Given the description of an element on the screen output the (x, y) to click on. 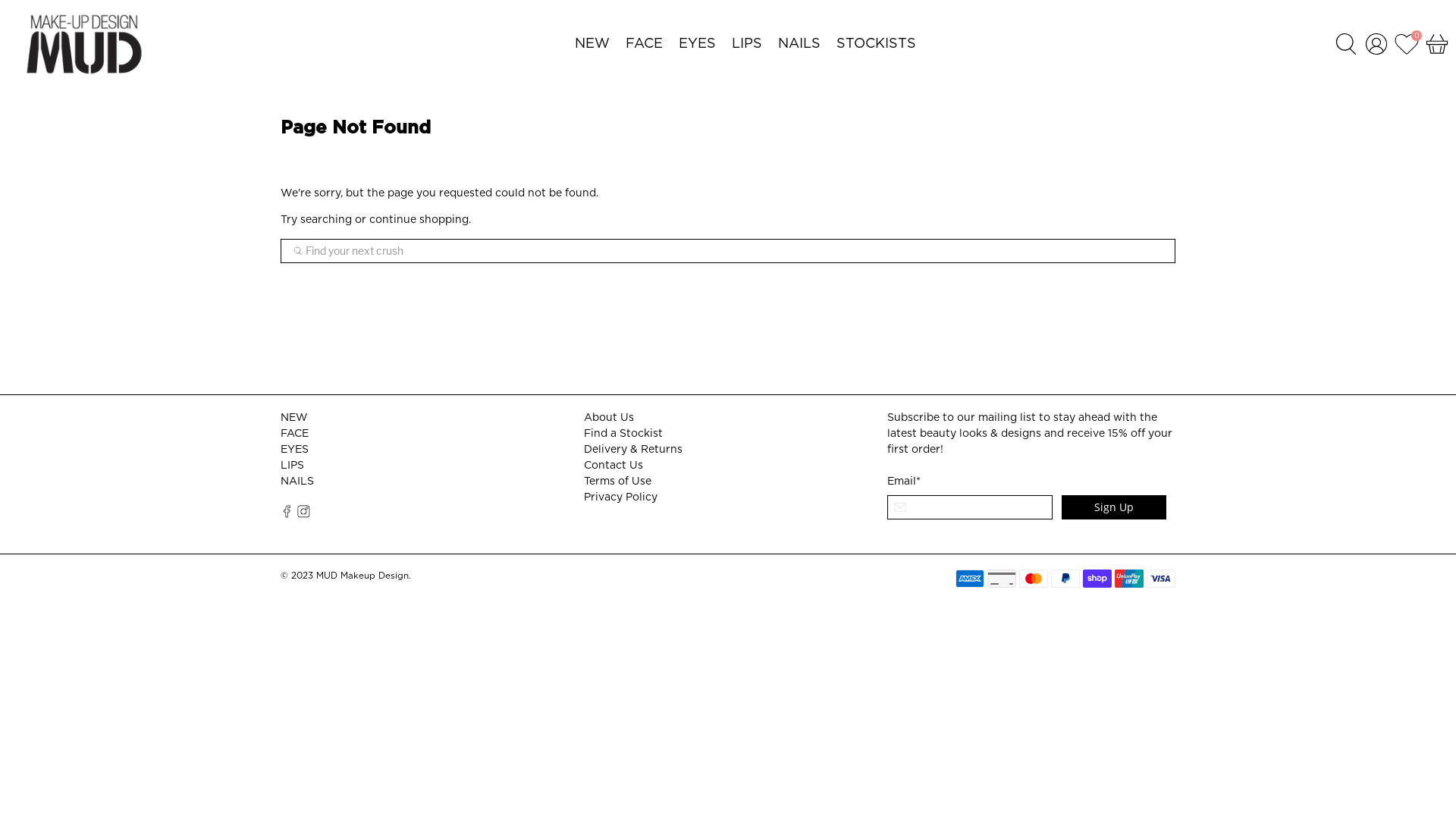
EYES Element type: text (696, 44)
EYES Element type: text (294, 449)
NAILS Element type: text (296, 481)
LIPS Element type: text (746, 44)
FACE Element type: text (294, 433)
NEW Element type: text (293, 417)
About Us Element type: text (608, 417)
Find a Stockist Element type: text (622, 433)
Terms of Use Element type: text (617, 481)
MUD Makeup Design Element type: hover (83, 43)
Privacy Policy Element type: text (620, 497)
Delivery & Returns Element type: text (632, 449)
MUD Makeup Design on Facebook Element type: hover (286, 514)
continue shopping Element type: text (418, 219)
MUD Makeup Design on Instagram Element type: hover (303, 514)
STOCKISTS Element type: text (875, 44)
Contact Us Element type: text (613, 465)
Sign Up Element type: text (1113, 507)
NEW Element type: text (592, 44)
FACE Element type: text (643, 44)
MUD Makeup Design Element type: text (362, 575)
NAILS Element type: text (799, 44)
LIPS Element type: text (292, 465)
0 Element type: text (1406, 43)
